Given the description of an element on the screen output the (x, y) to click on. 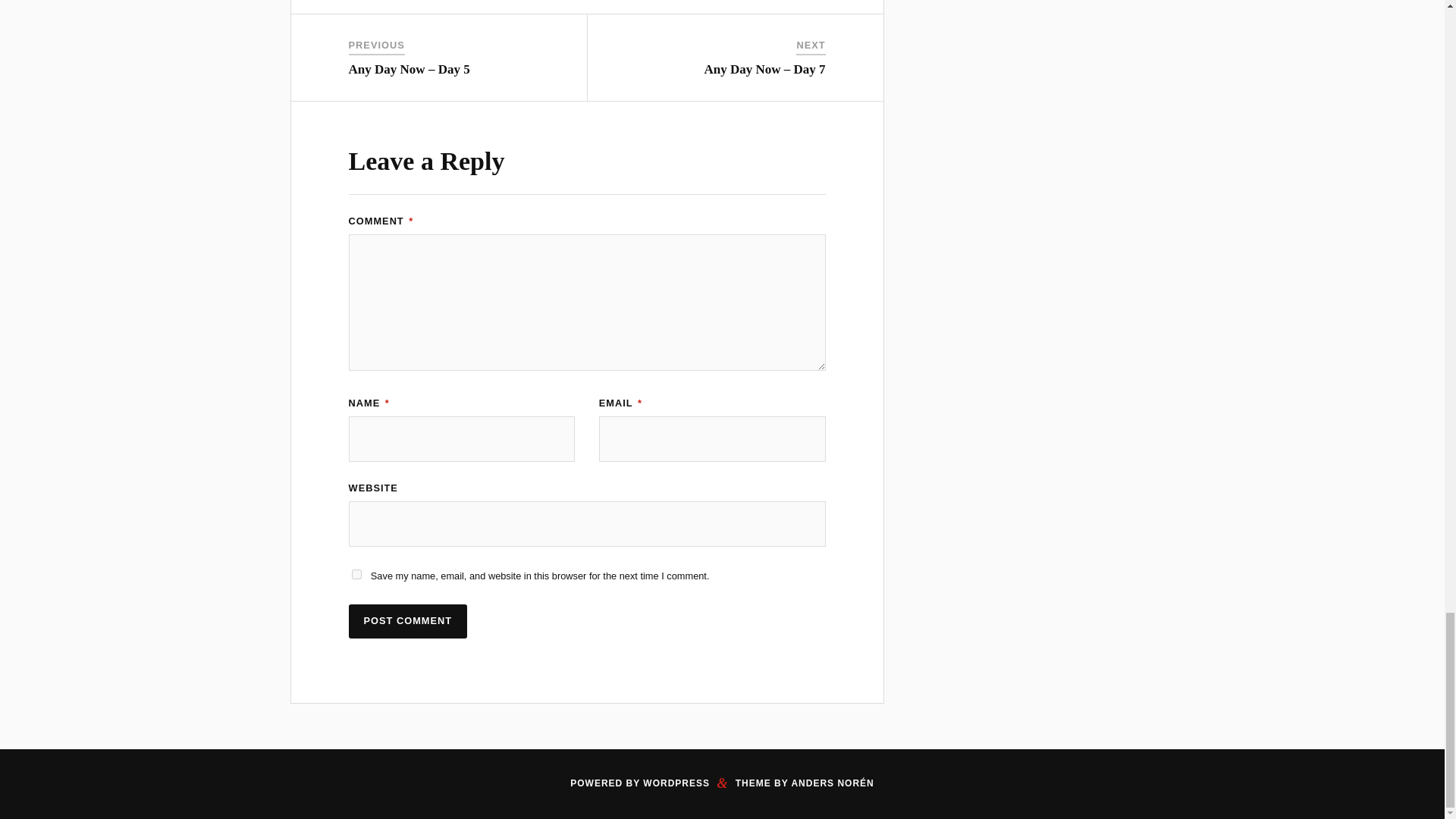
yes (356, 574)
Post Comment (408, 621)
Post Comment (408, 621)
